Given the description of an element on the screen output the (x, y) to click on. 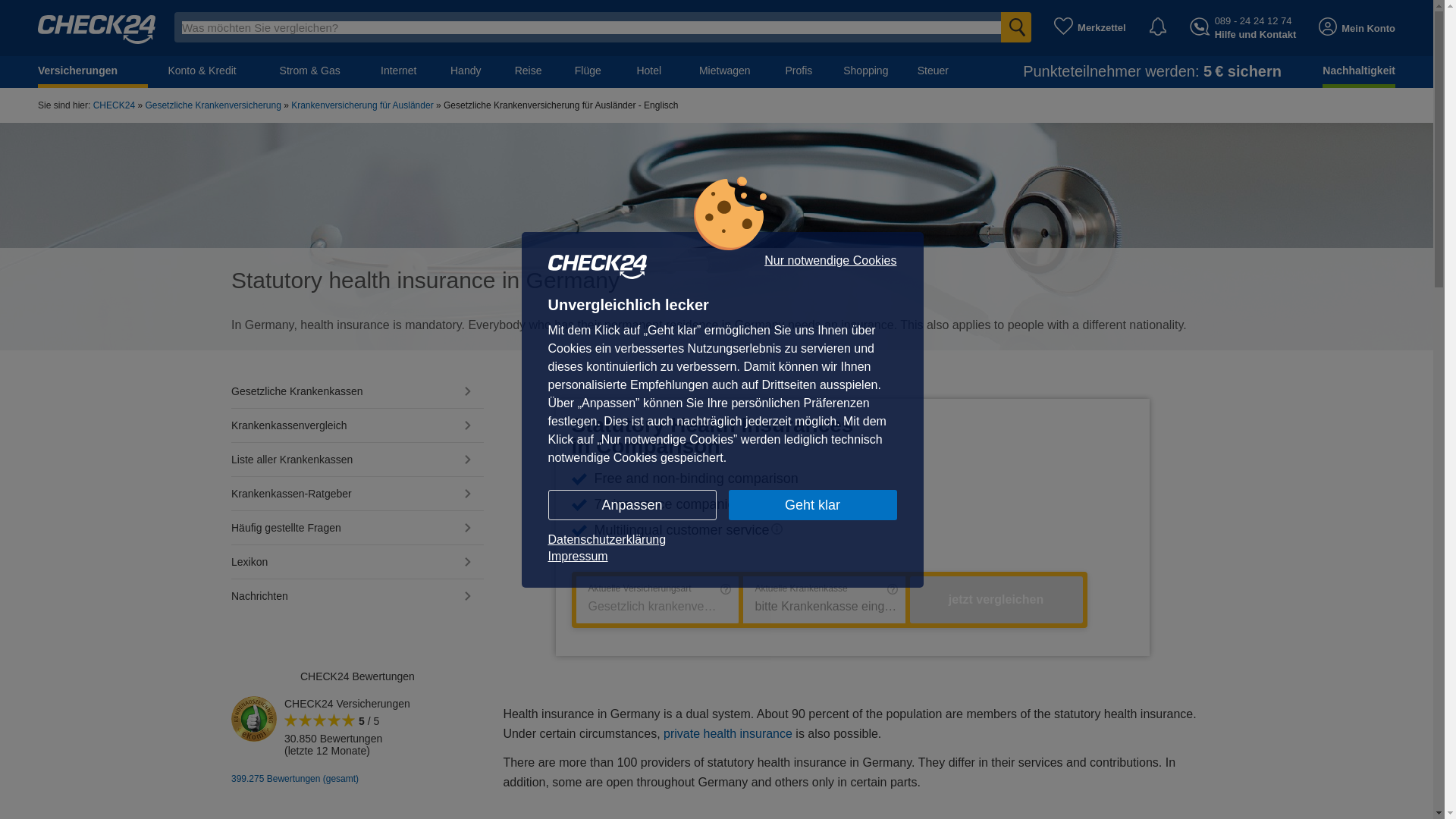
Nur notwendige Cookies (830, 260)
Mein Konto (1356, 27)
Versicherungen (92, 71)
Anpassen (631, 504)
Geht klar (812, 504)
Impressum (721, 555)
